Given the description of an element on the screen output the (x, y) to click on. 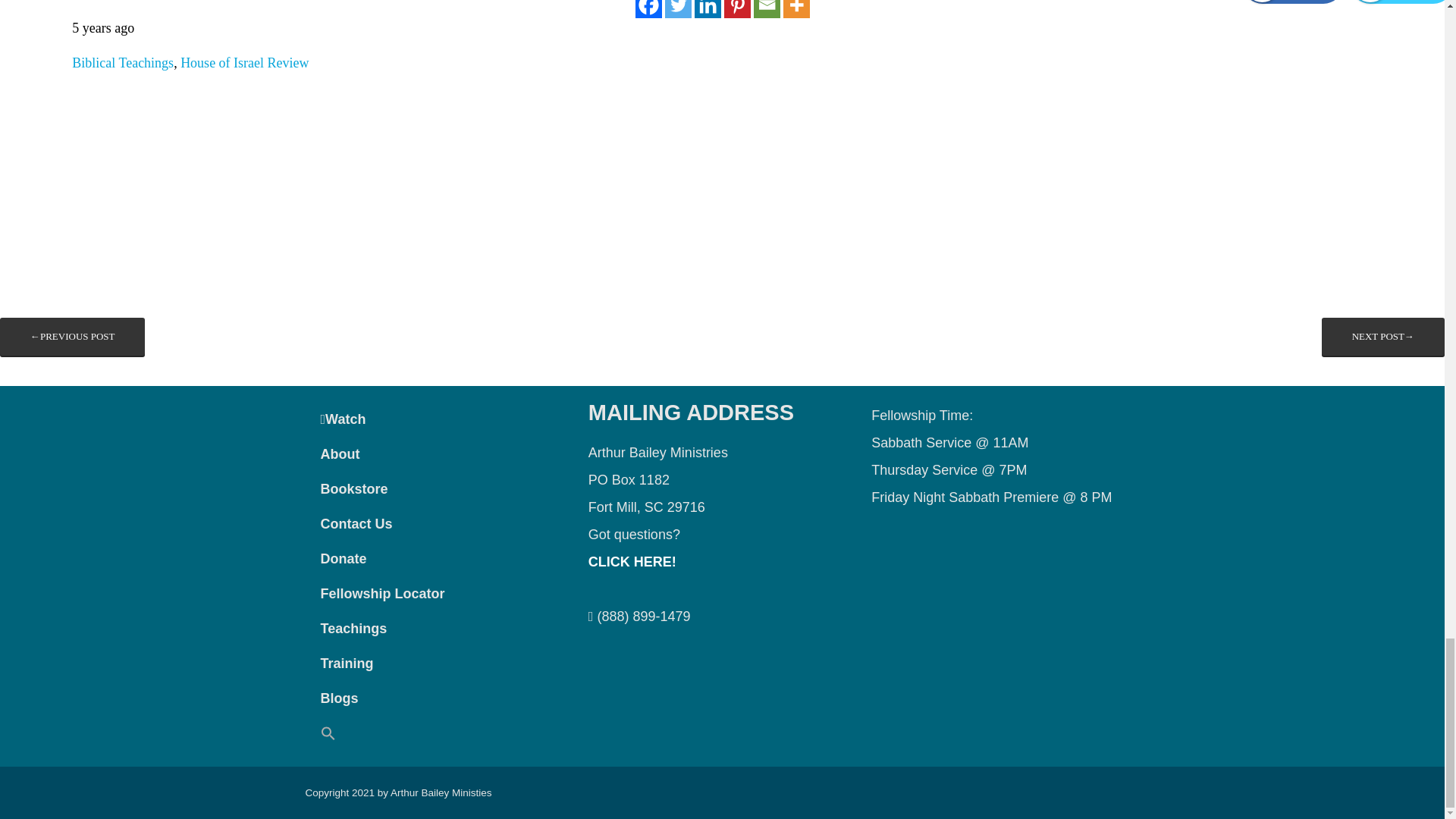
Facebook (648, 9)
Twitter (676, 9)
Linkedin (707, 9)
Pinterest (736, 9)
Email (767, 9)
More (796, 9)
